Given the description of an element on the screen output the (x, y) to click on. 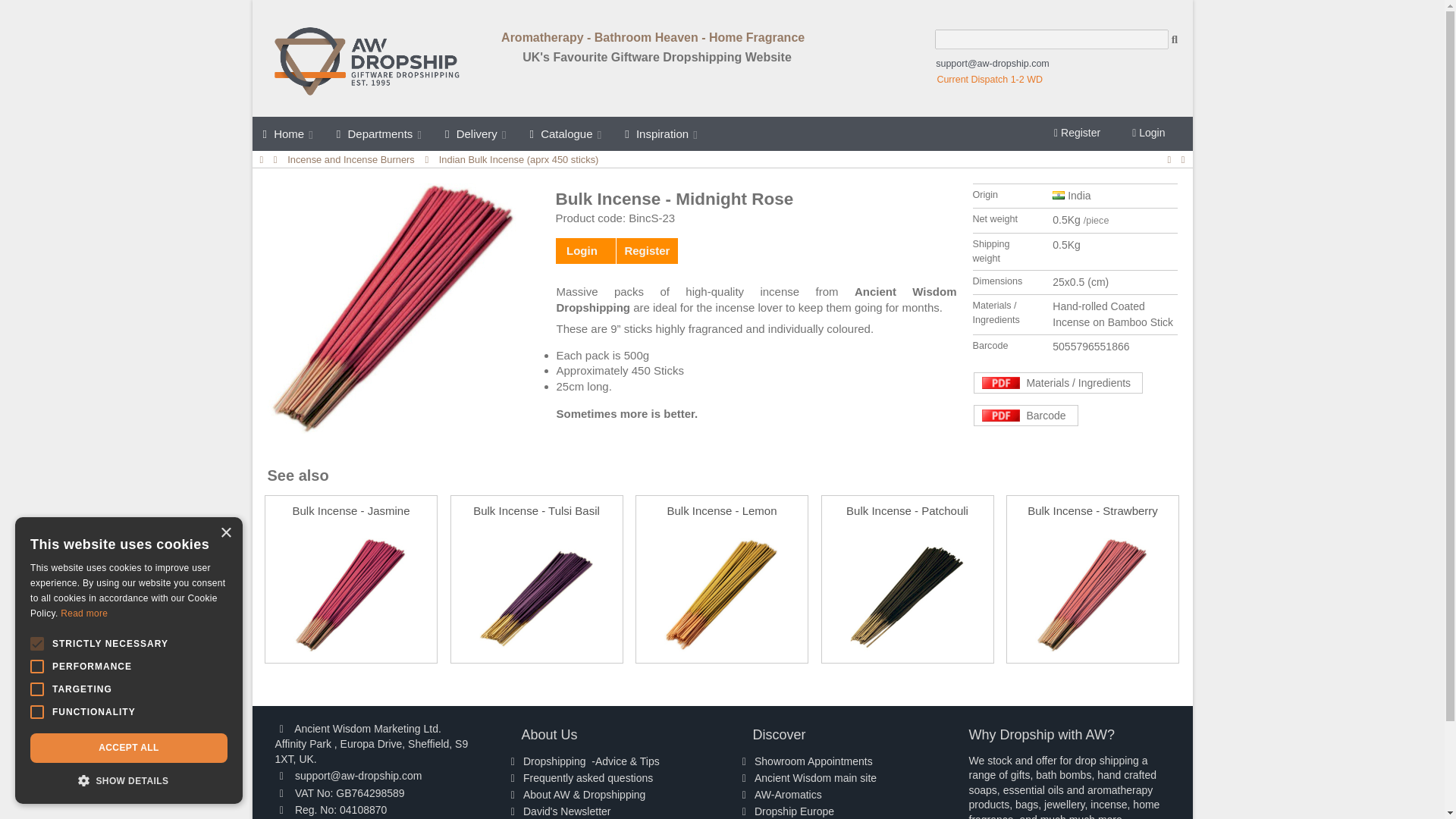
Home (287, 133)
Departments (379, 133)
Register (1077, 132)
Catalogue (566, 133)
Inspiration (662, 133)
Delivery (476, 133)
IND (1058, 194)
Login (1147, 132)
